Given the description of an element on the screen output the (x, y) to click on. 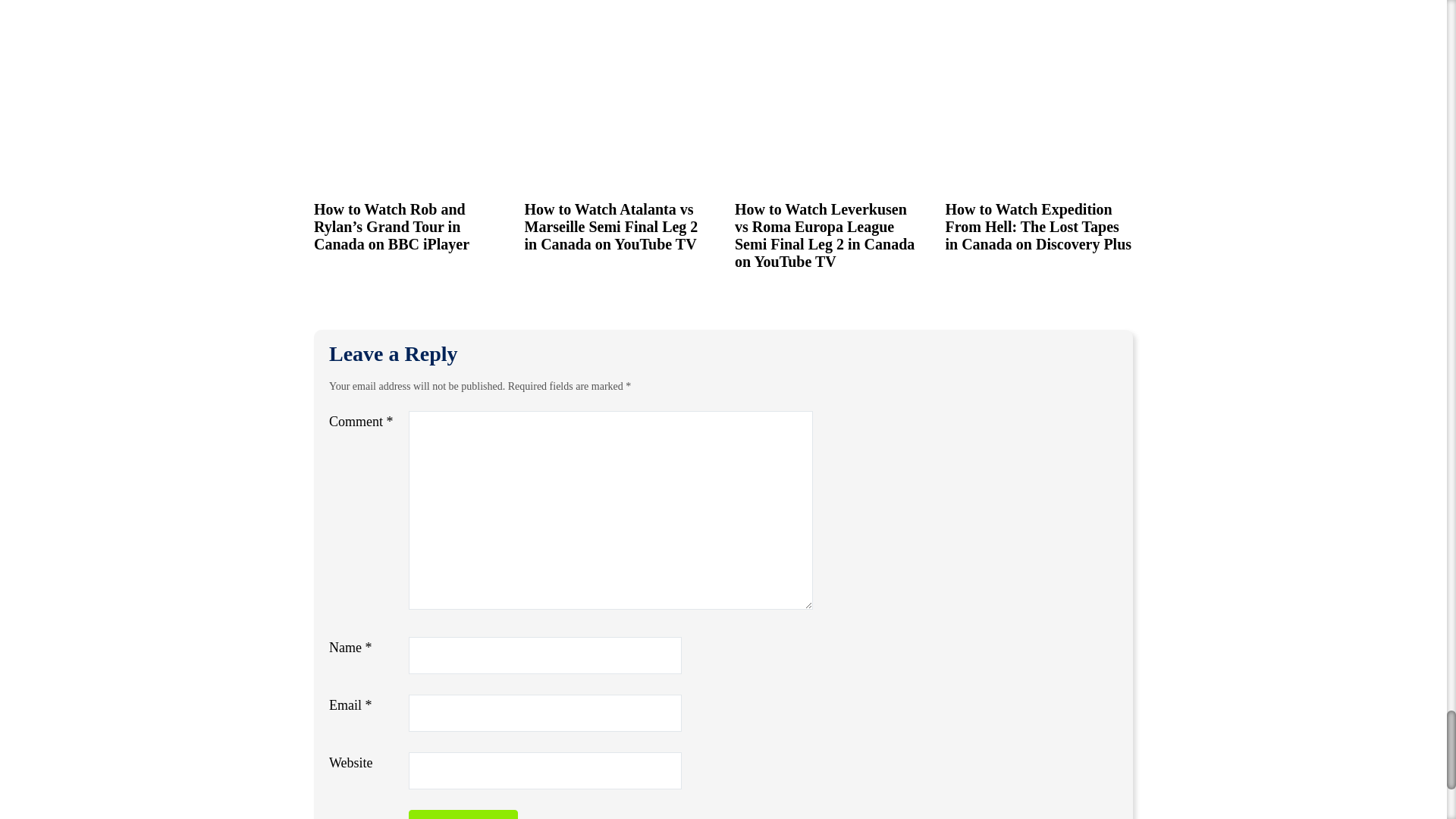
Post Comment (463, 814)
